Given the description of an element on the screen output the (x, y) to click on. 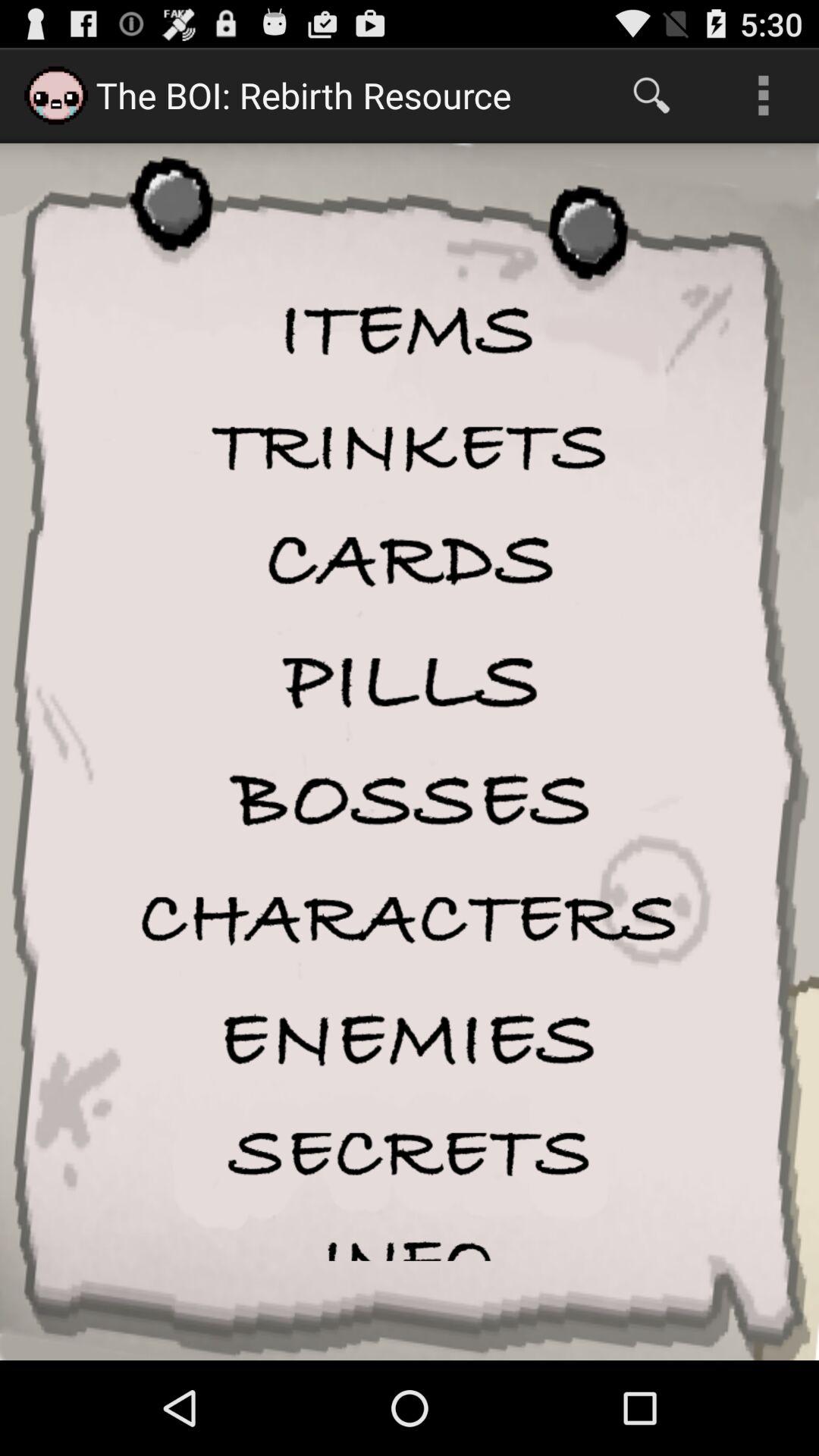
select this item (409, 1039)
